Given the description of an element on the screen output the (x, y) to click on. 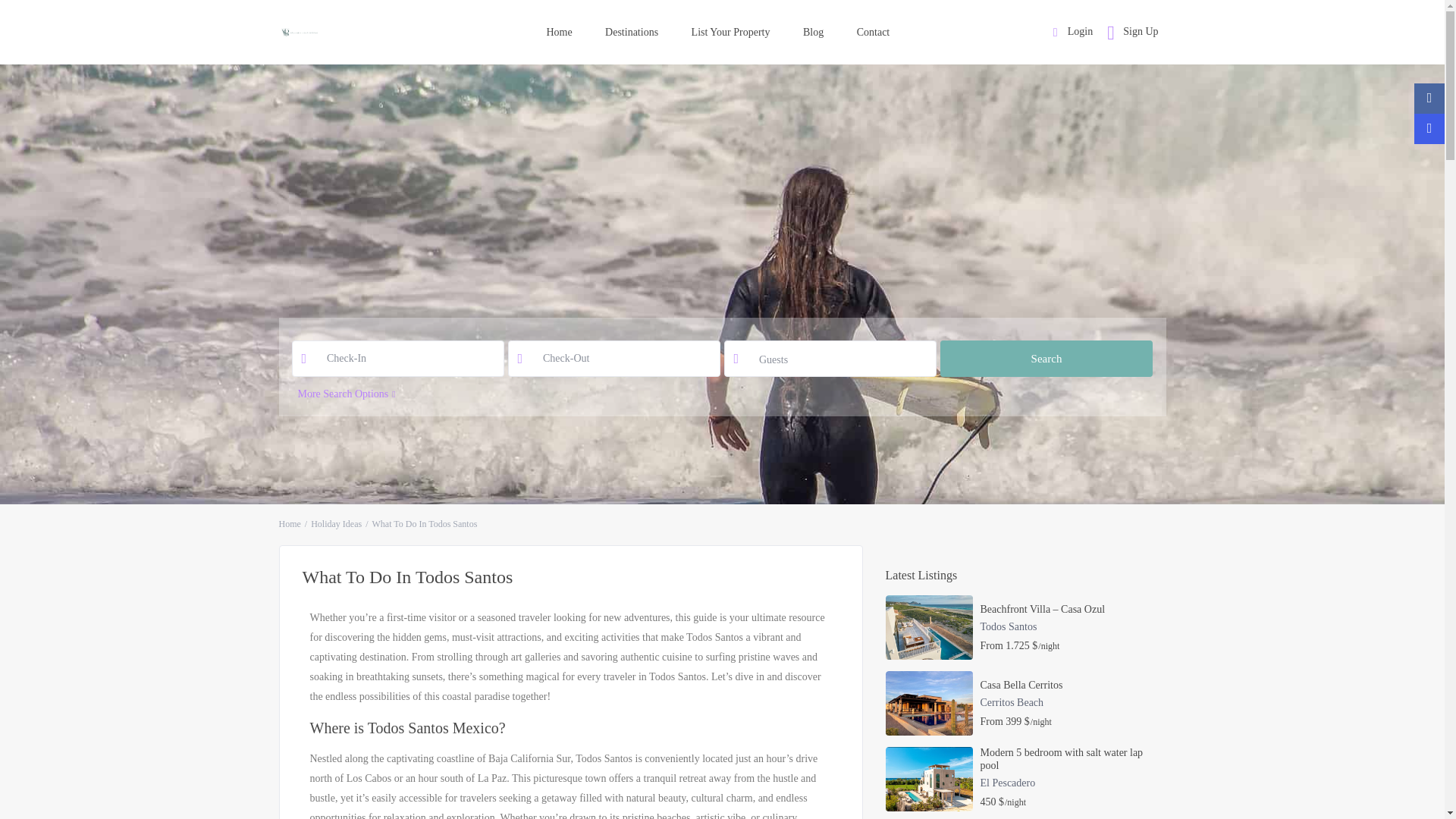
Search (1046, 358)
Search (1046, 358)
List Your Property (731, 32)
Holiday Ideas (336, 523)
Destinations (630, 32)
Home (290, 523)
Contact (873, 32)
Search (1046, 358)
